Given the description of an element on the screen output the (x, y) to click on. 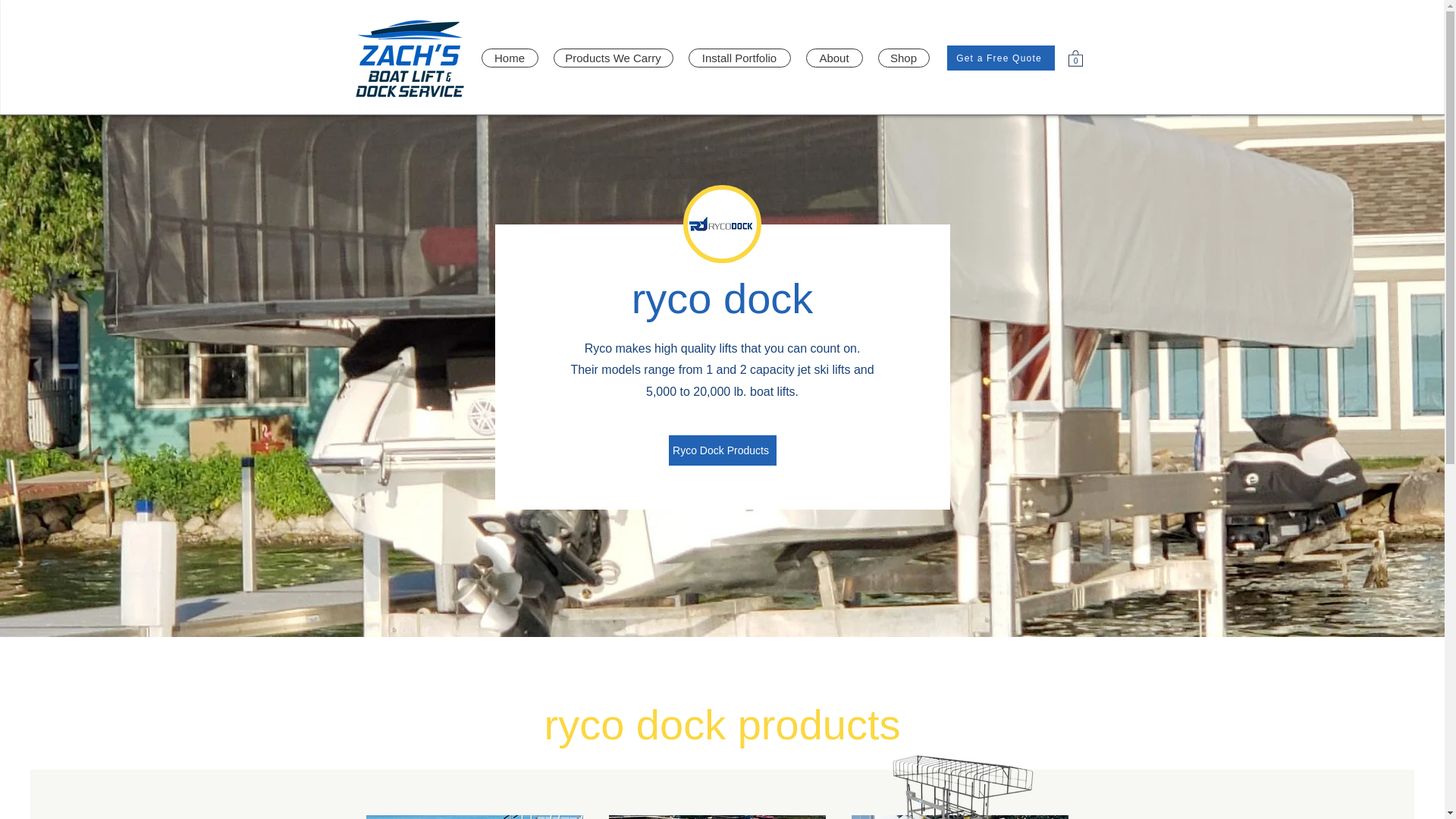
Install Portfolio (739, 57)
Get a Free Quote (1000, 57)
Home (508, 57)
About (833, 57)
